Given the description of an element on the screen output the (x, y) to click on. 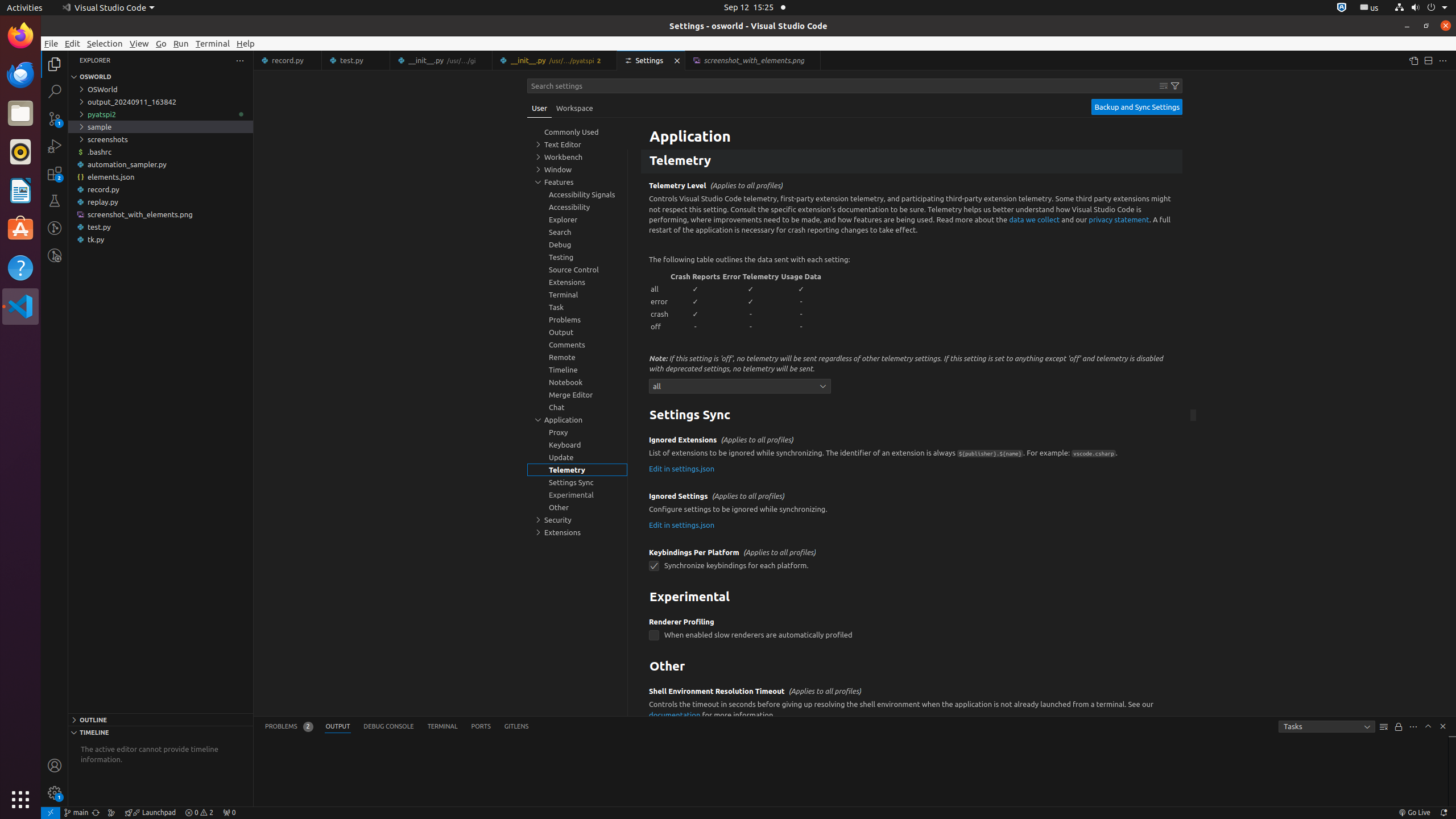
Search (Ctrl+Shift+F) Element type: page-tab (54, 91)
elements.json Element type: tree-item (160, 176)
broadcast Go Live, Click to run live server Element type: push-button (1414, 812)
data we collect Element type: link (1034, 218)
Run and Debug (Ctrl+Shift+D) Element type: page-tab (54, 145)
